Given the description of an element on the screen output the (x, y) to click on. 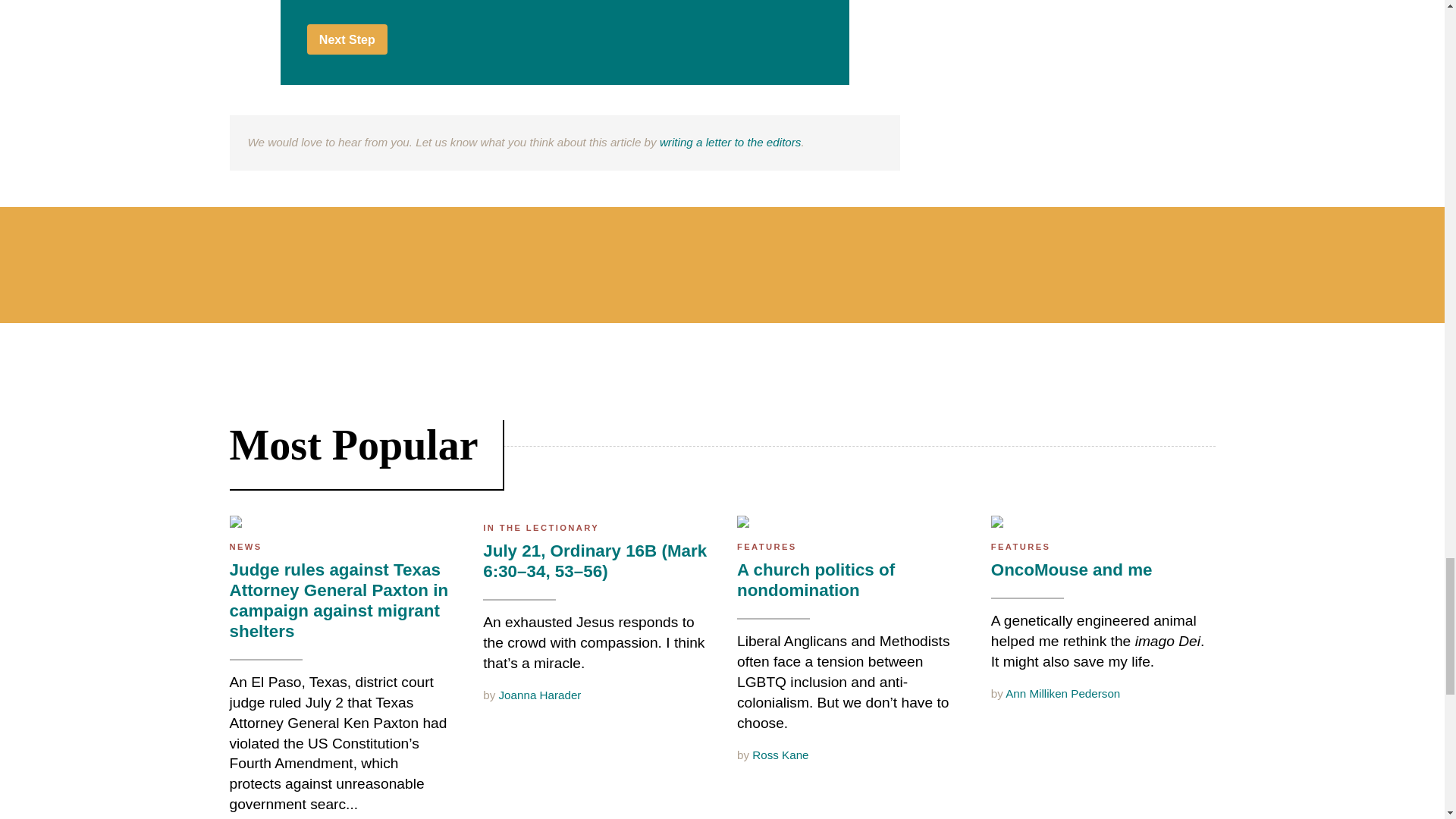
Next Step (347, 39)
